Given the description of an element on the screen output the (x, y) to click on. 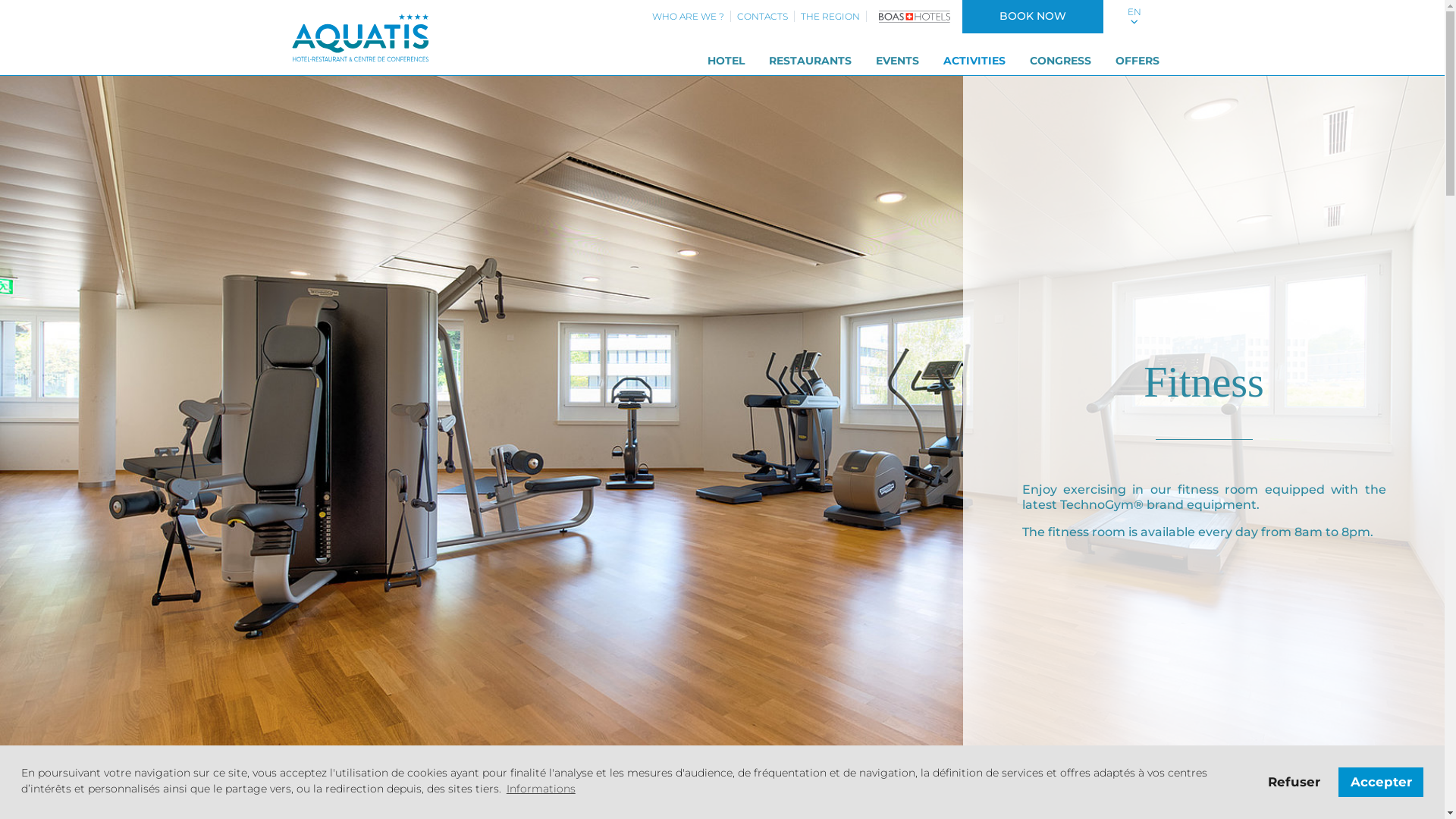
BOOK NOW Element type: text (1031, 16)
HOTEL Element type: text (724, 61)
ACTIVITIES Element type: text (974, 61)
Accepter Element type: text (1380, 781)
THE REGION Element type: text (830, 16)
Informations Element type: text (540, 788)
RESTAURANTS Element type: text (809, 61)
OFFERS Element type: text (1136, 61)
CONGRESS Element type: text (1060, 61)
WHO ARE WE ? Element type: text (688, 16)
EN Element type: text (1133, 16)
EVENTS Element type: text (896, 61)
CONTACTS Element type: text (762, 16)
Refuser Element type: text (1294, 781)
